Given the description of an element on the screen output the (x, y) to click on. 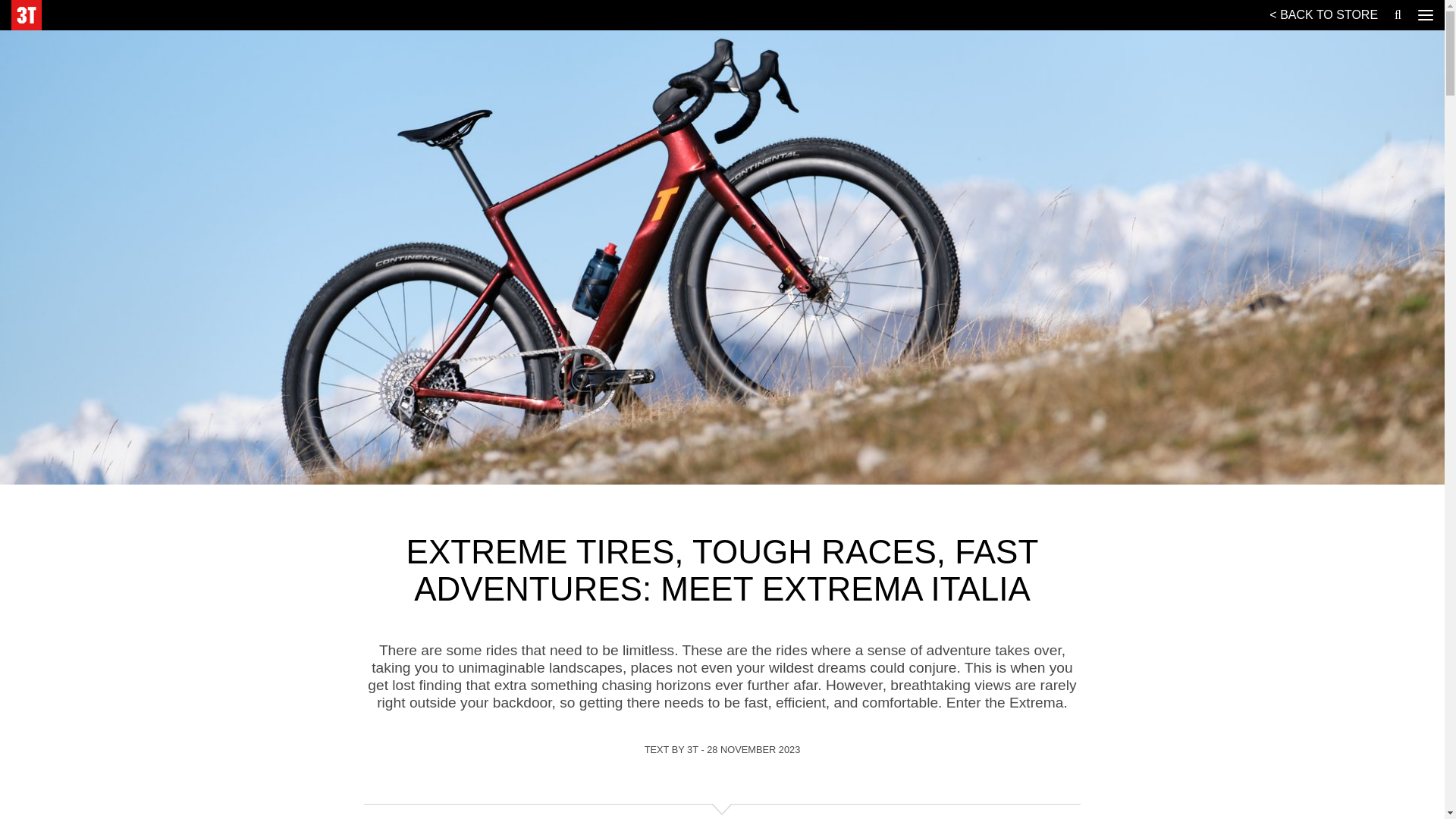
3T Blog (26, 15)
Back to store (1323, 15)
Navigation (1425, 14)
